Given the description of an element on the screen output the (x, y) to click on. 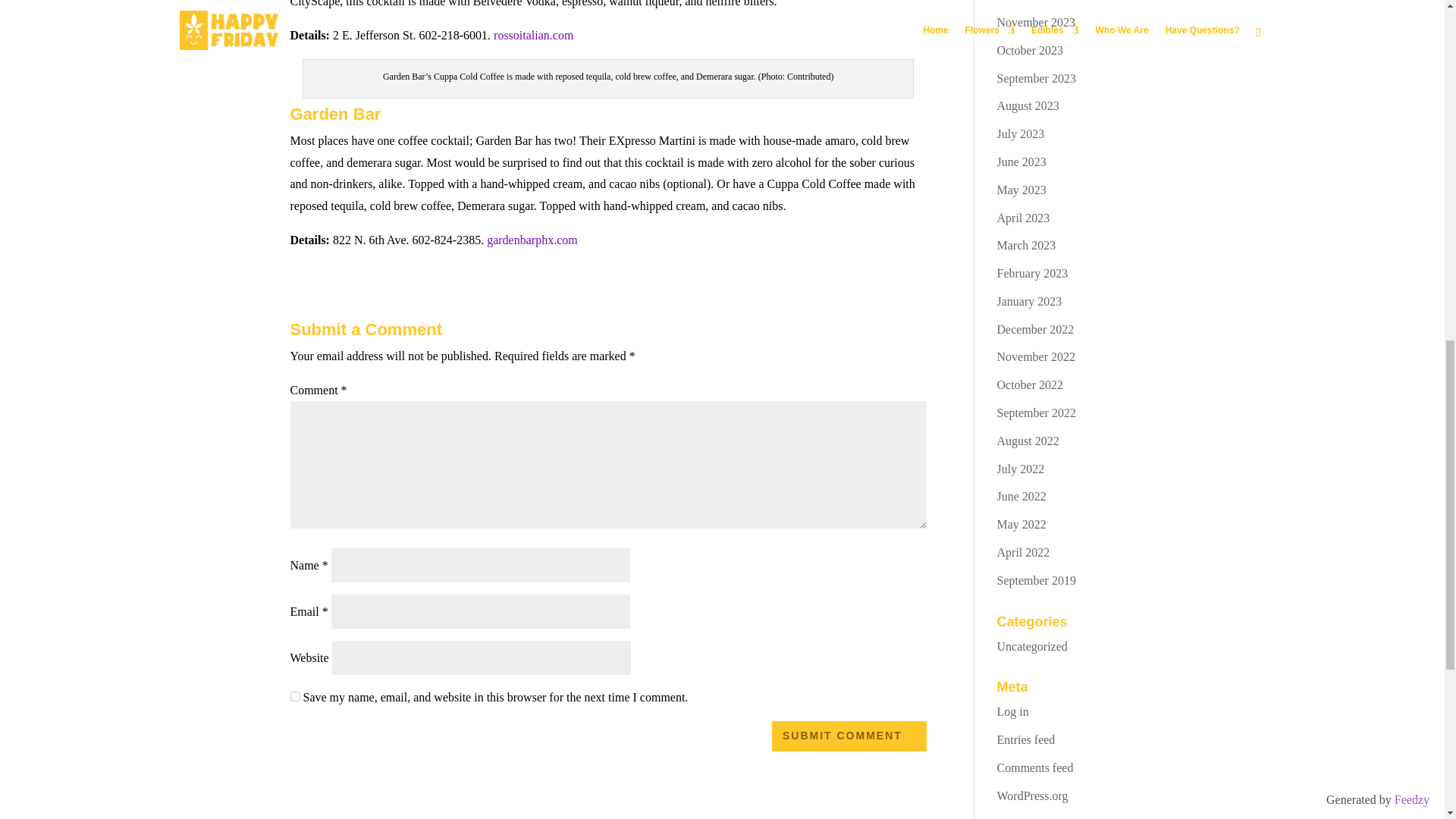
September 2023 (1036, 78)
October 2023 (1030, 50)
November 2023 (1036, 21)
Submit Comment (848, 736)
August 2023 (1028, 105)
yes (294, 696)
rossoitalian.com (533, 34)
Submit Comment (848, 736)
gardenbarphx.com (532, 239)
